Given the description of an element on the screen output the (x, y) to click on. 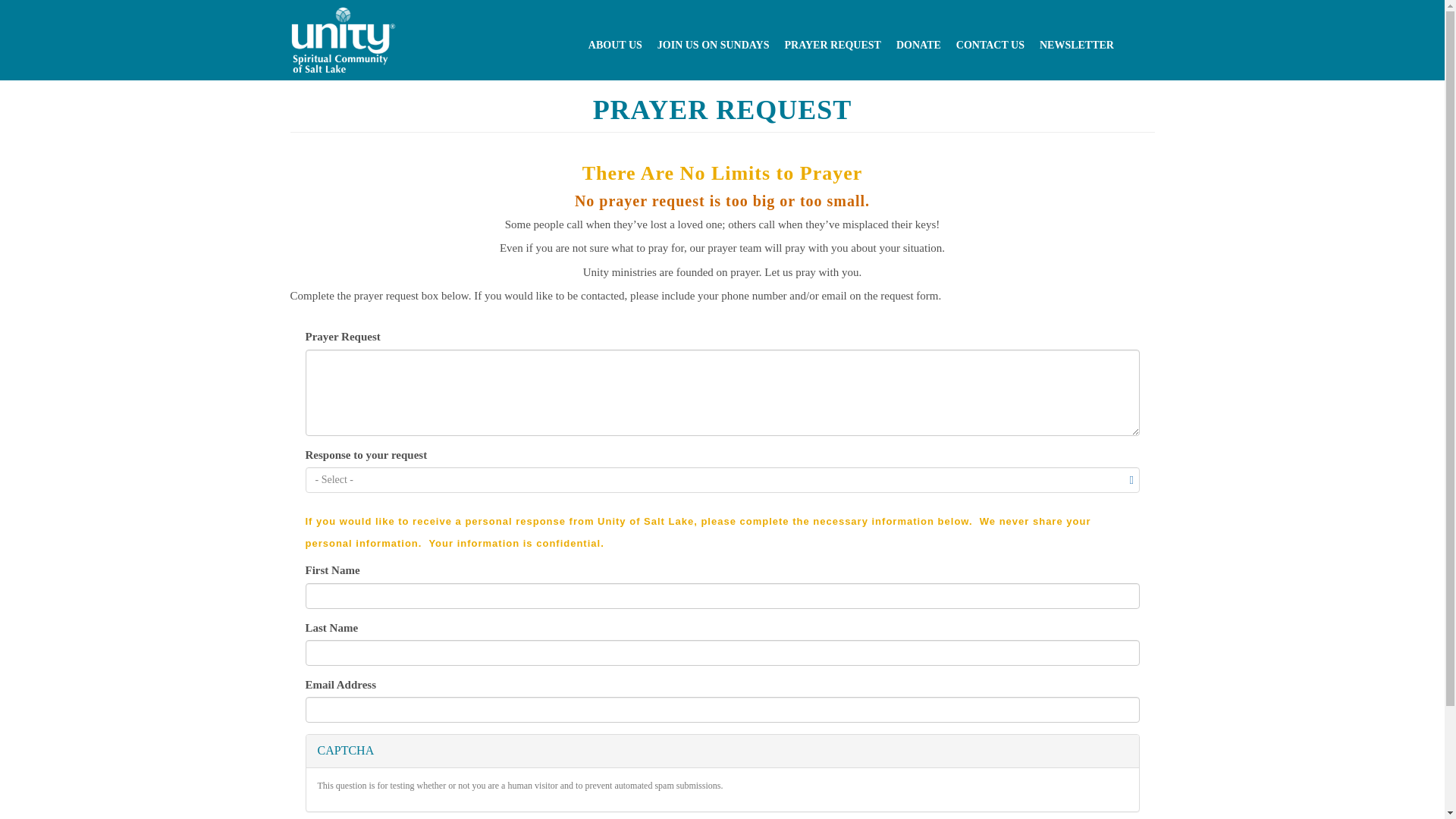
facebook (1141, 42)
Home (335, 39)
PRAYER REQUEST (832, 45)
NEWSLETTER (1076, 45)
ABOUT US (614, 45)
CONTACT US (990, 45)
Search (896, 21)
CAPTCHA (721, 750)
vimeo (1152, 42)
JOIN US ON SUNDAYS (713, 45)
DONATE (918, 45)
